Given the description of an element on the screen output the (x, y) to click on. 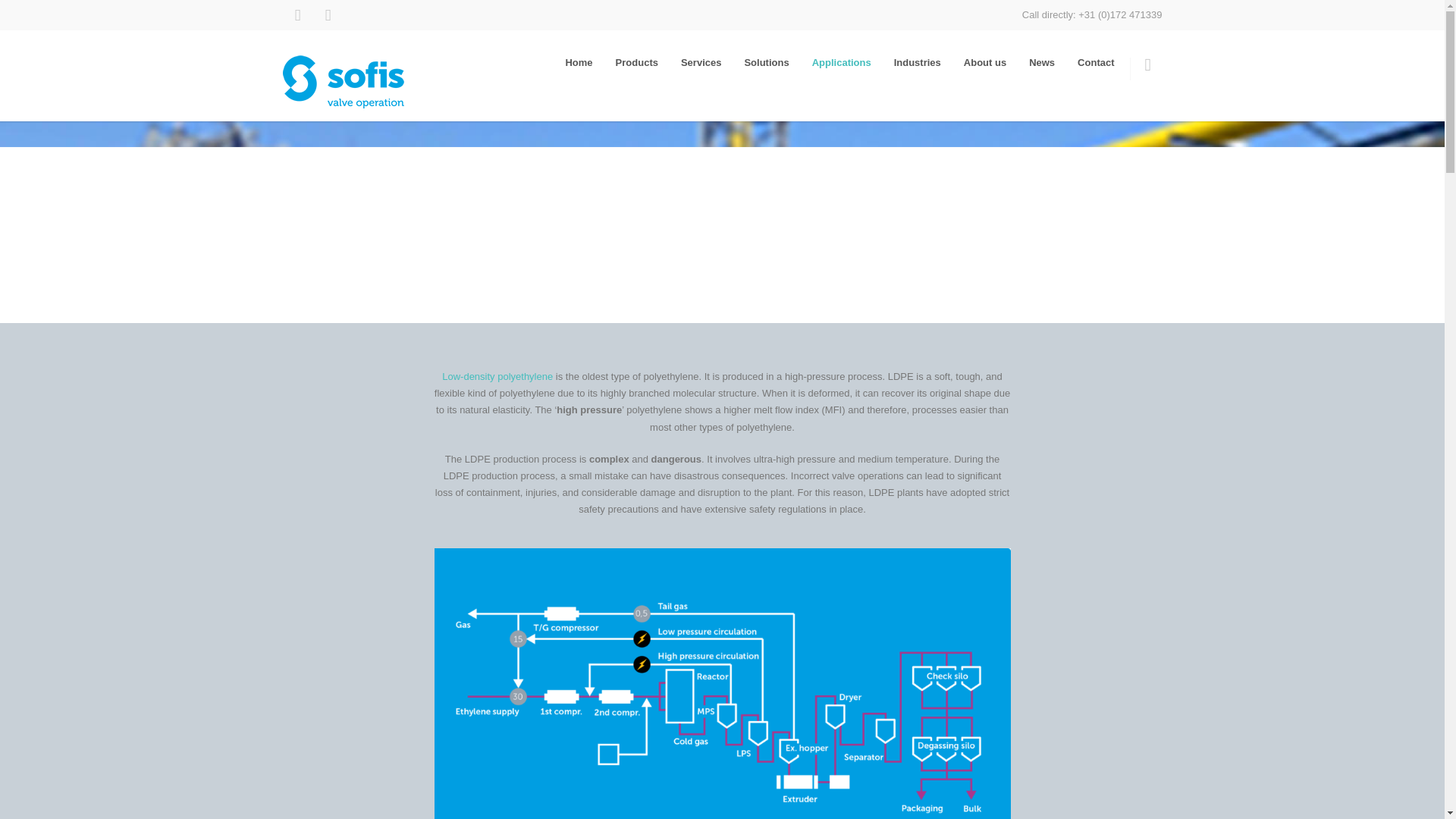
News (1041, 62)
Applications (841, 62)
About us (984, 62)
Industries (917, 62)
Contact (1095, 62)
Services (701, 62)
Solutions (765, 62)
Products (636, 62)
YouTube (327, 15)
LinkedIn (297, 15)
